Given the description of an element on the screen output the (x, y) to click on. 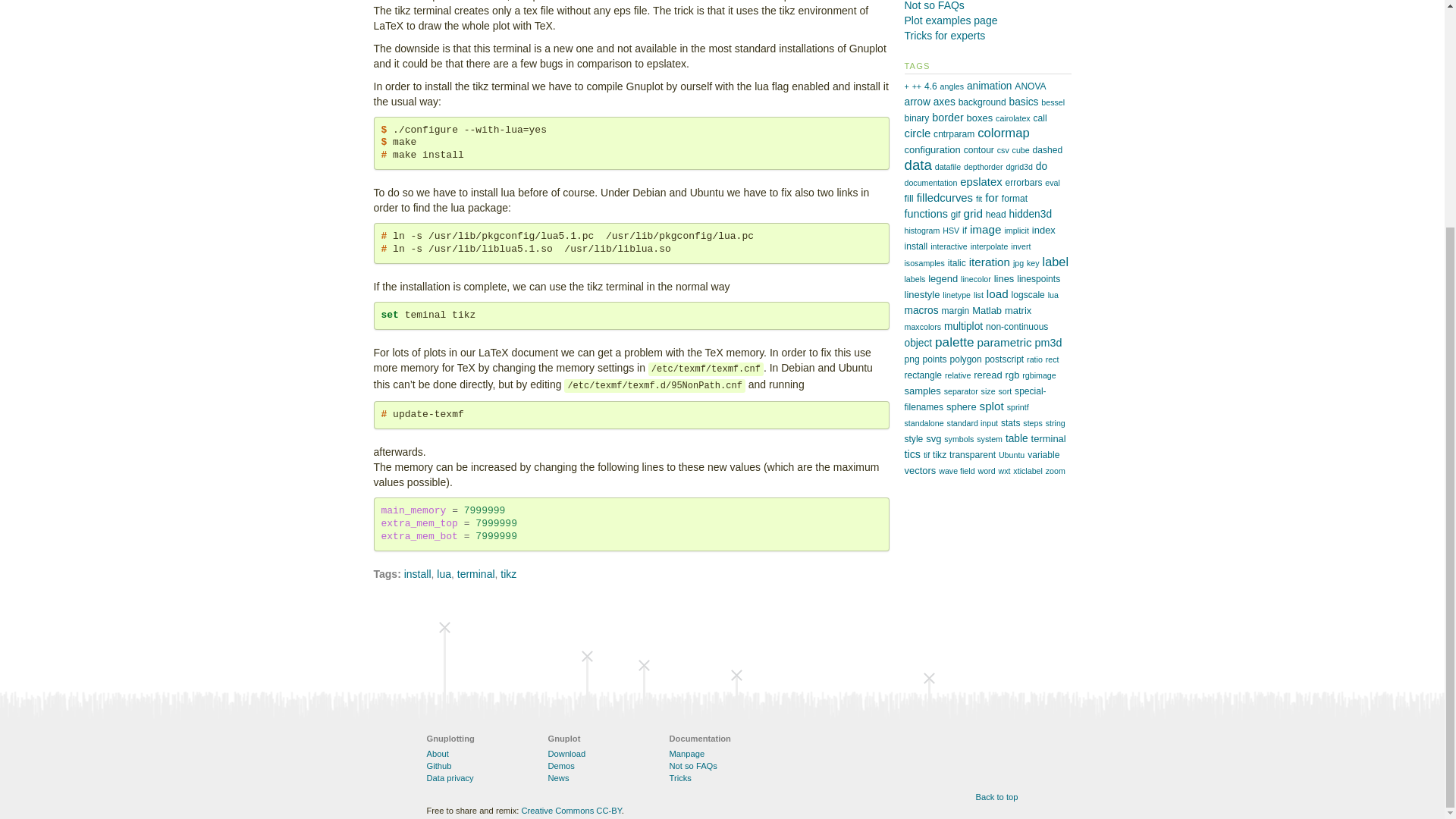
cntrparam (953, 133)
lua (443, 573)
cairolatex (1012, 117)
basics (1023, 101)
bessel (1052, 102)
animation (988, 85)
Tricks for experts (944, 35)
angles (951, 85)
ANOVA (1029, 86)
A BLOG about advanced plotting with Gnuplot (944, 35)
